Given the description of an element on the screen output the (x, y) to click on. 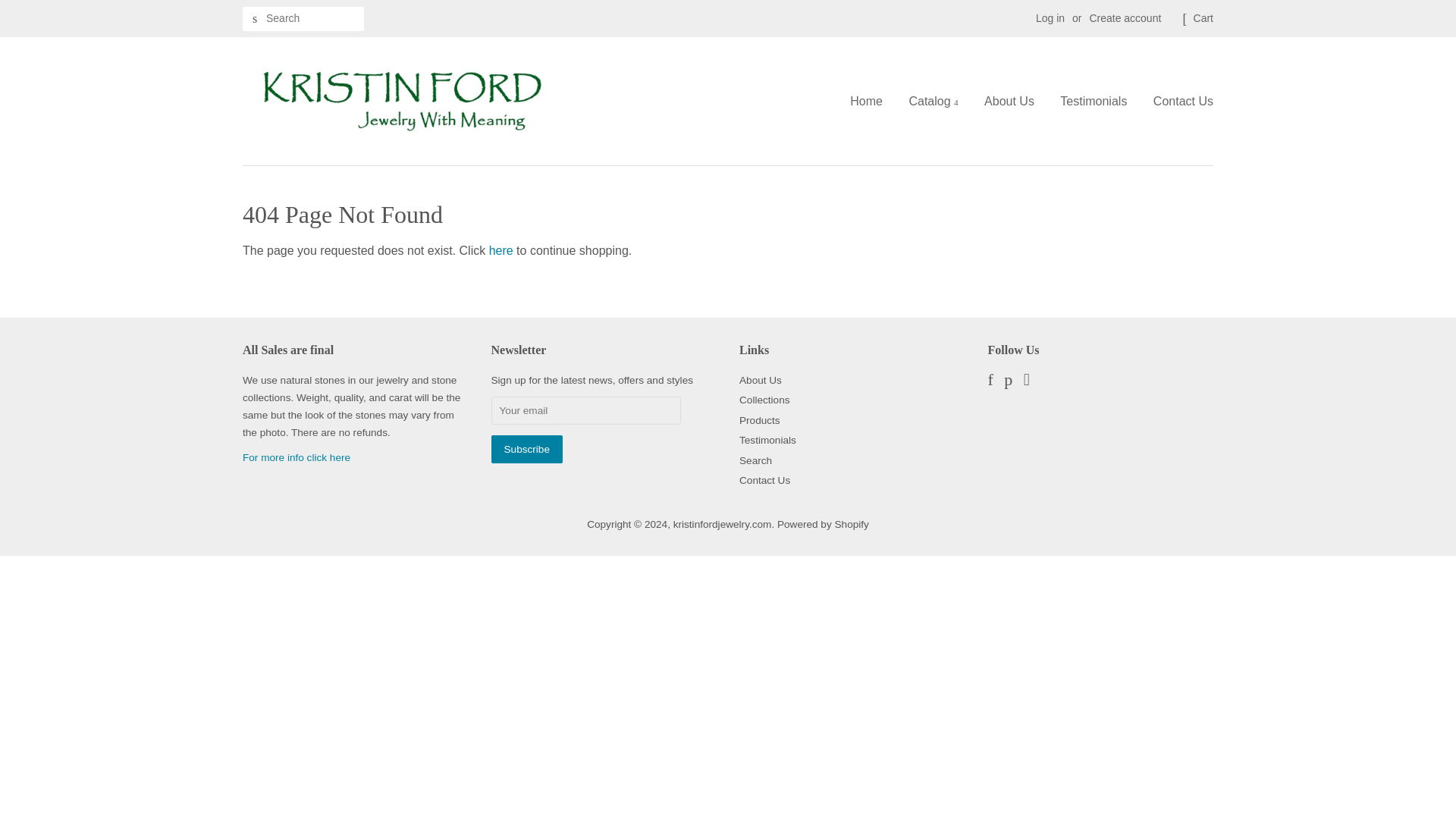
Search (755, 460)
Home (871, 100)
Collections (764, 399)
Contact Us (764, 480)
Log in (1049, 18)
Subscribe (527, 448)
Products (759, 419)
Search (254, 18)
About Us (296, 457)
Cart (1202, 18)
Testimonials (1093, 100)
Testimonials (767, 439)
Create account (1124, 18)
About Us (760, 379)
For more info click here (296, 457)
